Given the description of an element on the screen output the (x, y) to click on. 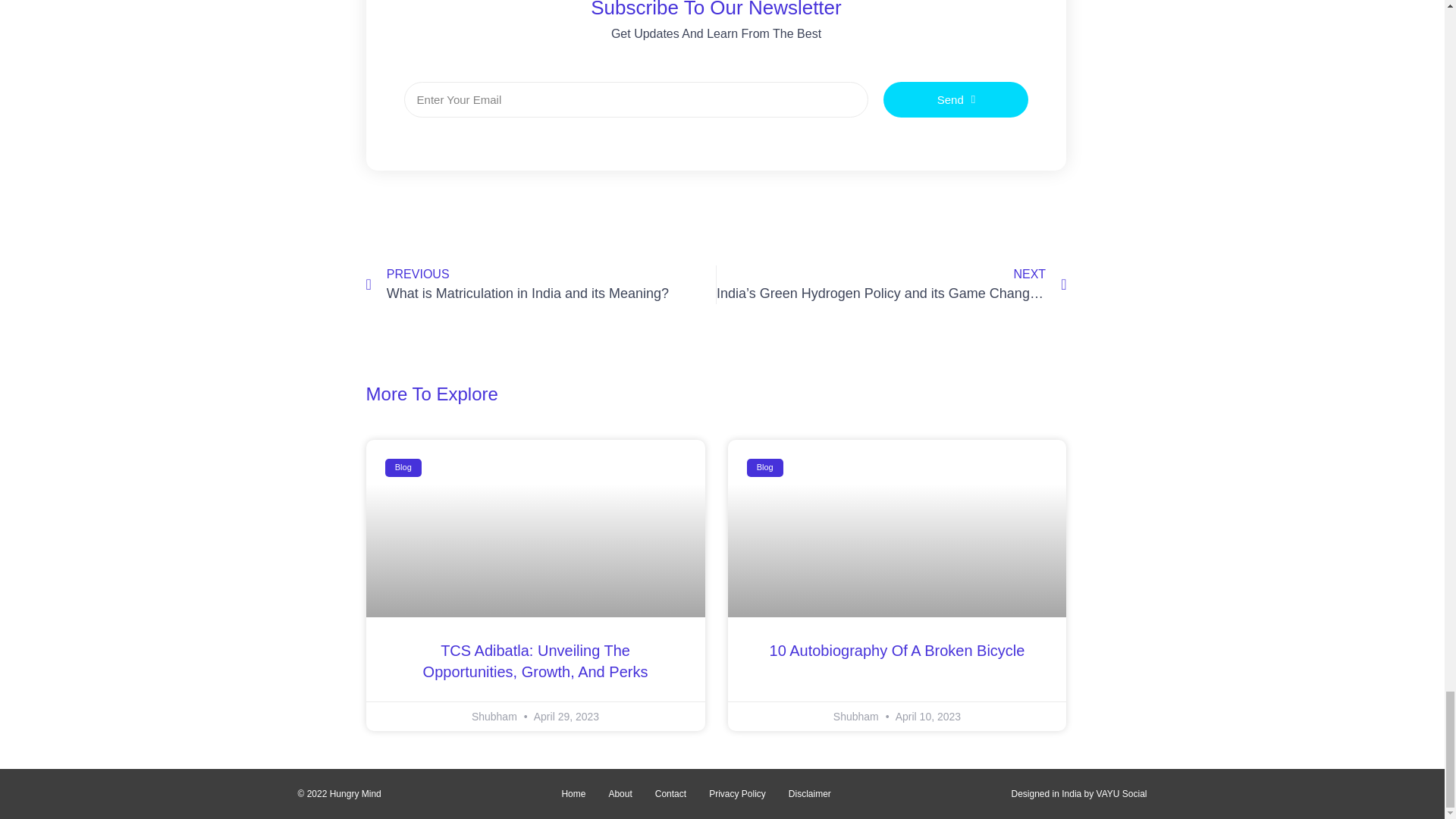
Privacy Policy (737, 793)
Disclaimer (810, 793)
TCS Adibatla: Unveiling The Opportunities, Growth, And Perks (535, 661)
Send (955, 99)
Contact (670, 793)
10 Autobiography Of A Broken Bicycle (897, 650)
